Given the description of an element on the screen output the (x, y) to click on. 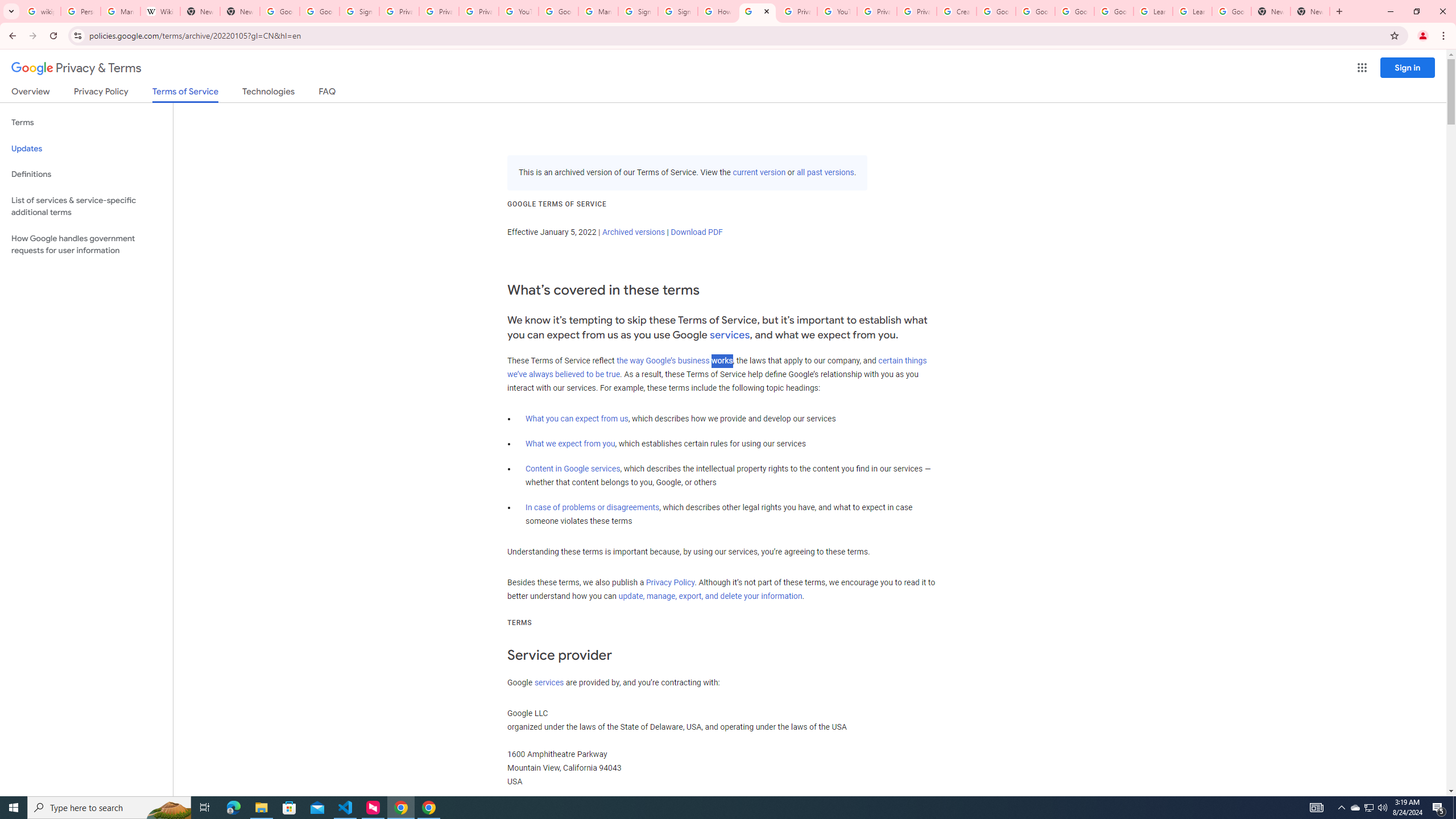
Google Account Help (995, 11)
Personalization & Google Search results - Google Search Help (80, 11)
current version (759, 172)
New Tab (1310, 11)
services (549, 682)
Definitions (86, 174)
In case of problems or disagreements (592, 507)
